Given the description of an element on the screen output the (x, y) to click on. 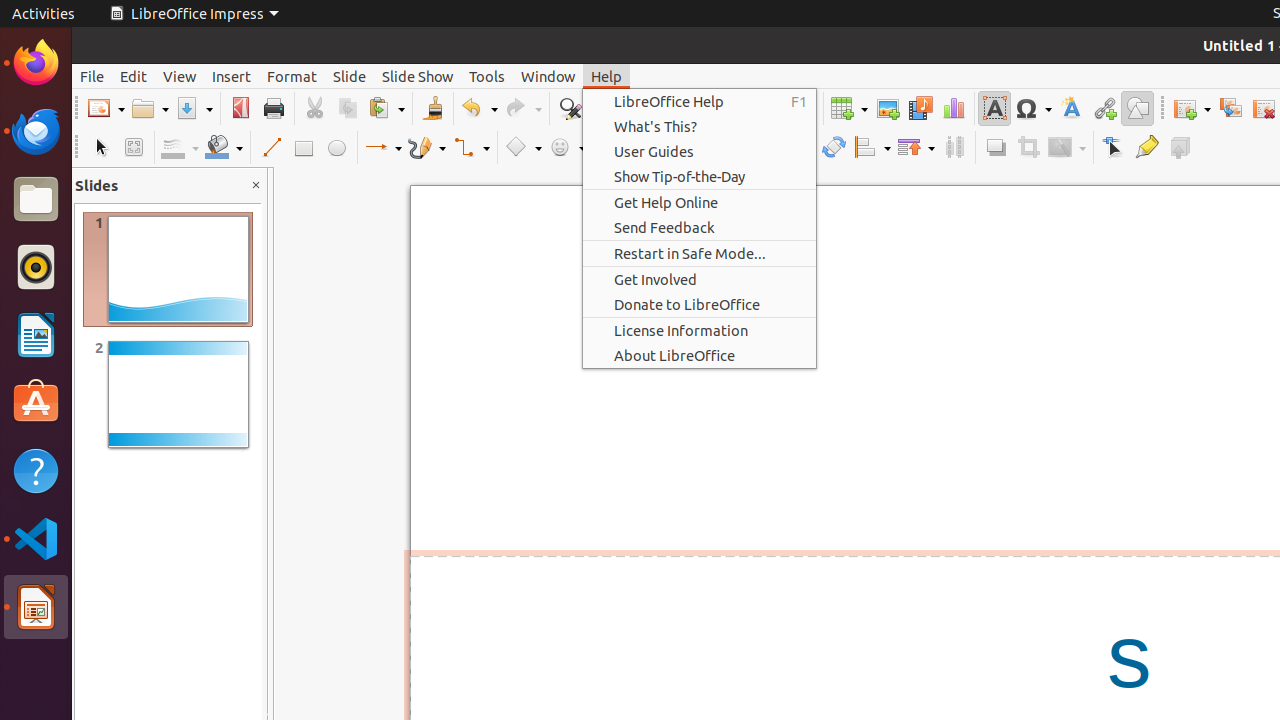
Select Element type: push-button (100, 147)
Lines and Arrows Element type: push-button (383, 147)
What's This? Element type: menu-item (699, 126)
Show Tip-of-the-Day Element type: menu-item (699, 176)
Rhythmbox Element type: push-button (36, 267)
